Given the description of an element on the screen output the (x, y) to click on. 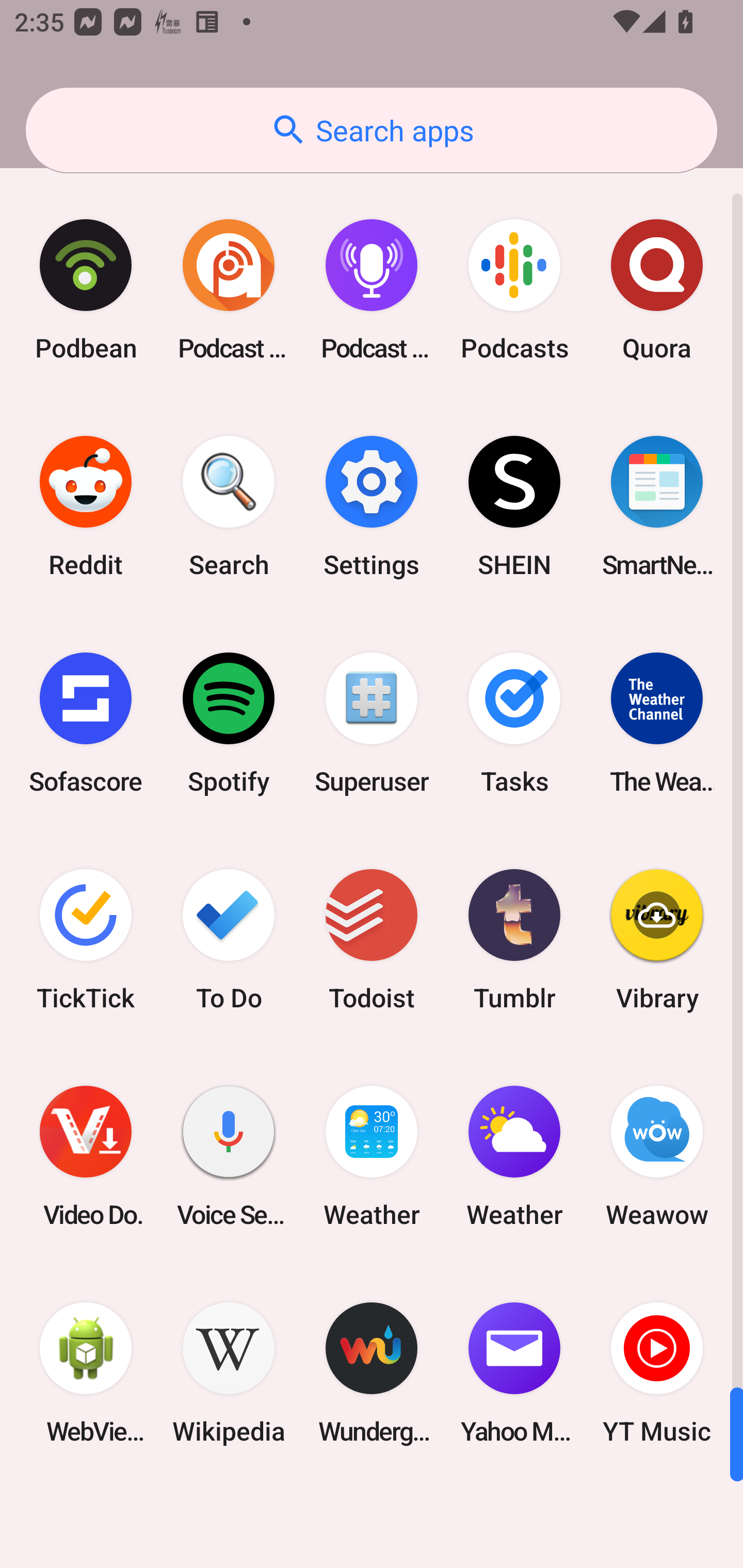
  Search apps (371, 130)
Podbean (85, 289)
Podcast Addict (228, 289)
Podcast Player (371, 289)
Podcasts (514, 289)
Quora (656, 289)
Reddit (85, 506)
Search (228, 506)
Settings (371, 506)
SHEIN (514, 506)
SmartNews (656, 506)
Sofascore (85, 722)
Spotify (228, 722)
Superuser (371, 722)
Tasks (514, 722)
The Weather Channel (656, 722)
TickTick (85, 939)
To Do (228, 939)
Todoist (371, 939)
Tumblr (514, 939)
Vibrary (656, 939)
Video Downloader & Ace Player (85, 1156)
Voice Search (228, 1156)
Weather (371, 1156)
Weather (514, 1156)
Weawow (656, 1156)
WebView Browser Tester (85, 1373)
Wikipedia (228, 1373)
Wunderground (371, 1373)
Yahoo Mail (514, 1373)
YT Music (656, 1373)
